Given the description of an element on the screen output the (x, y) to click on. 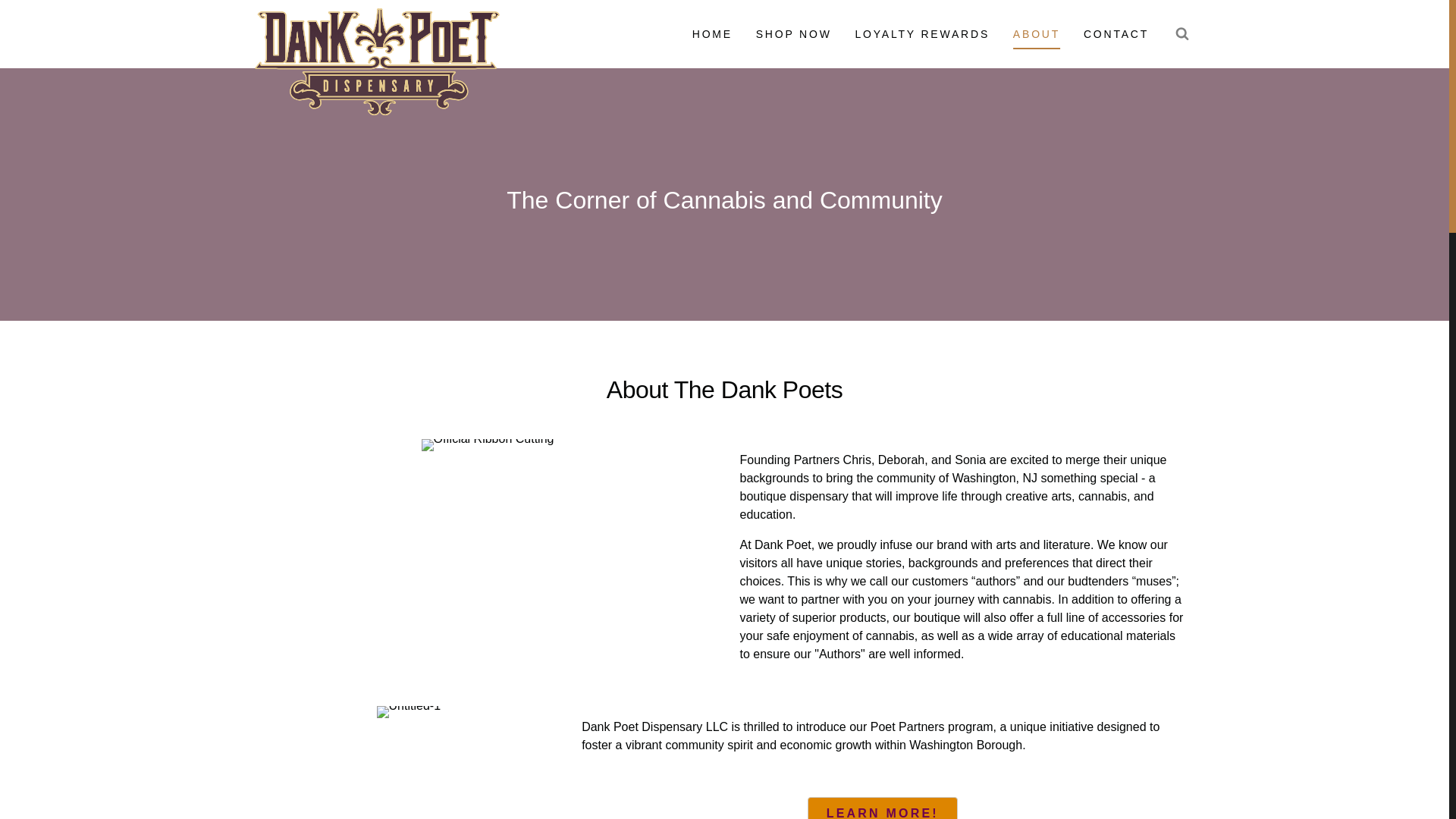
ABOUT (1036, 33)
LOYALTY REWARDS (922, 33)
SHOP NOW (793, 33)
CONTACT (1115, 33)
HOME (711, 33)
Untitled-1 (409, 711)
LEARN MORE! (883, 807)
